Given the description of an element on the screen output the (x, y) to click on. 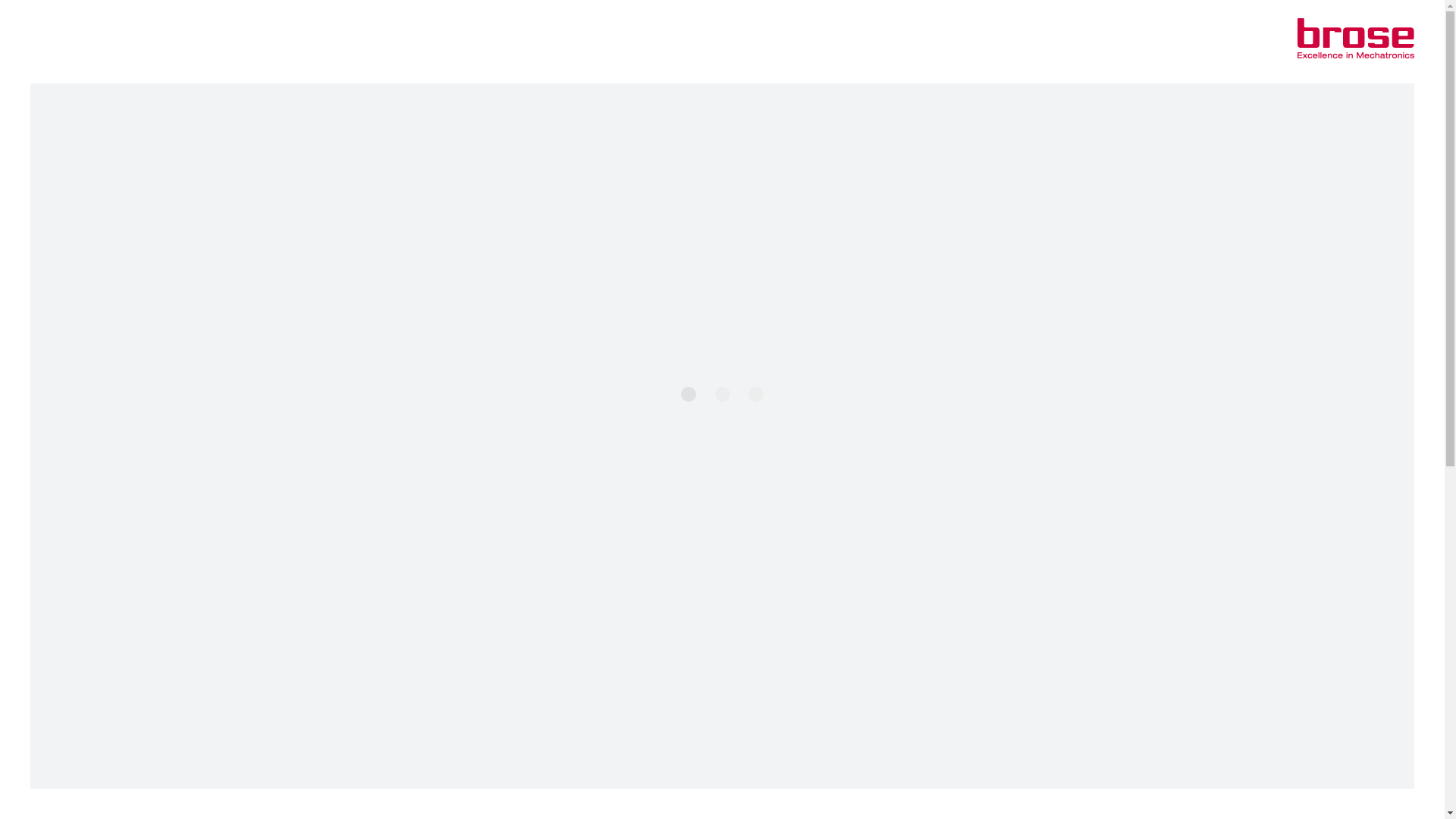
Company (721, 112)
Products (68, 43)
